Given the description of an element on the screen output the (x, y) to click on. 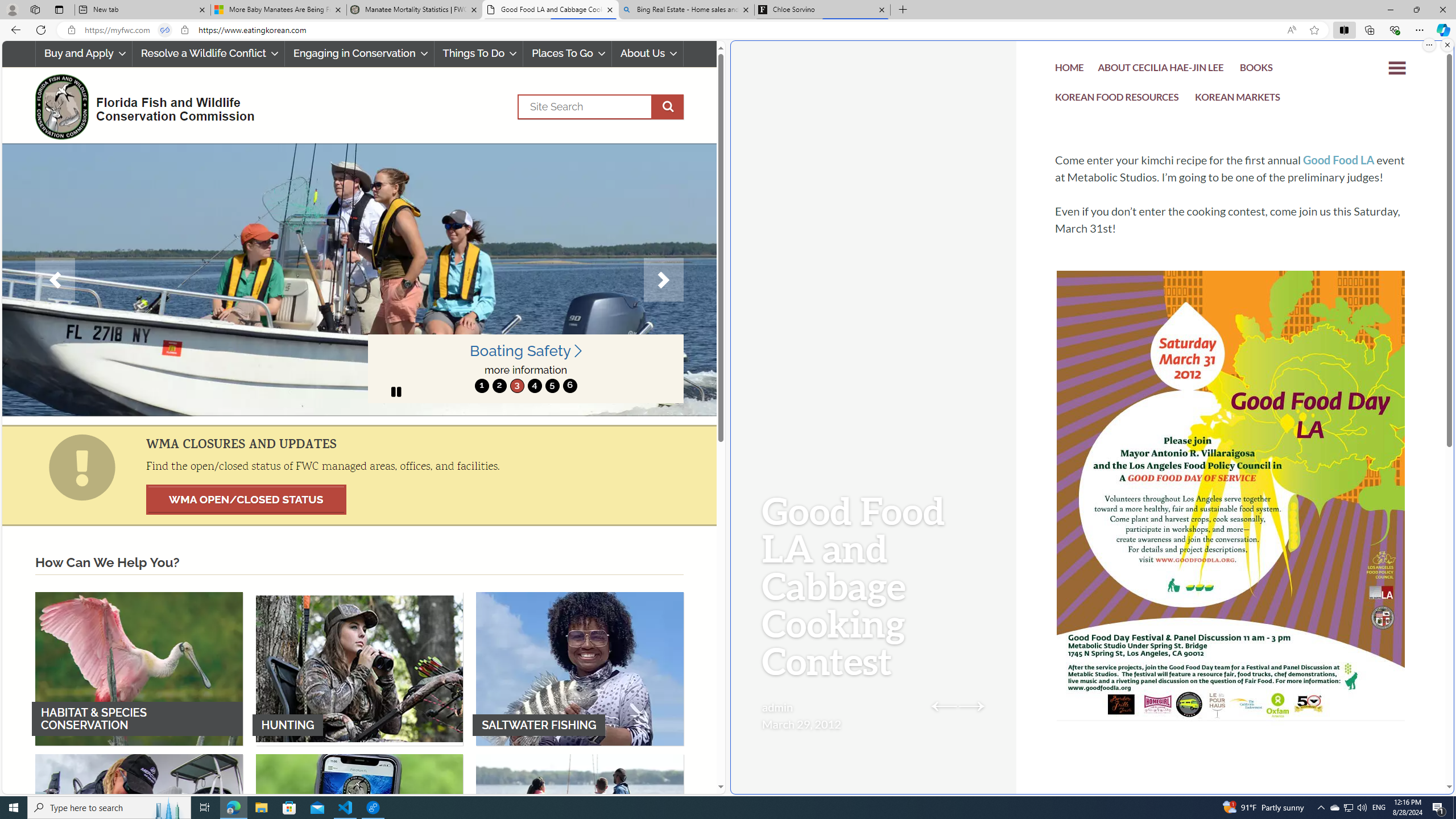
KOREAN MARKETS (1237, 98)
HUNTING (358, 668)
4 (534, 385)
HABITAT & SPECIES CONSERVATION (138, 668)
6 (569, 385)
